Given the description of an element on the screen output the (x, y) to click on. 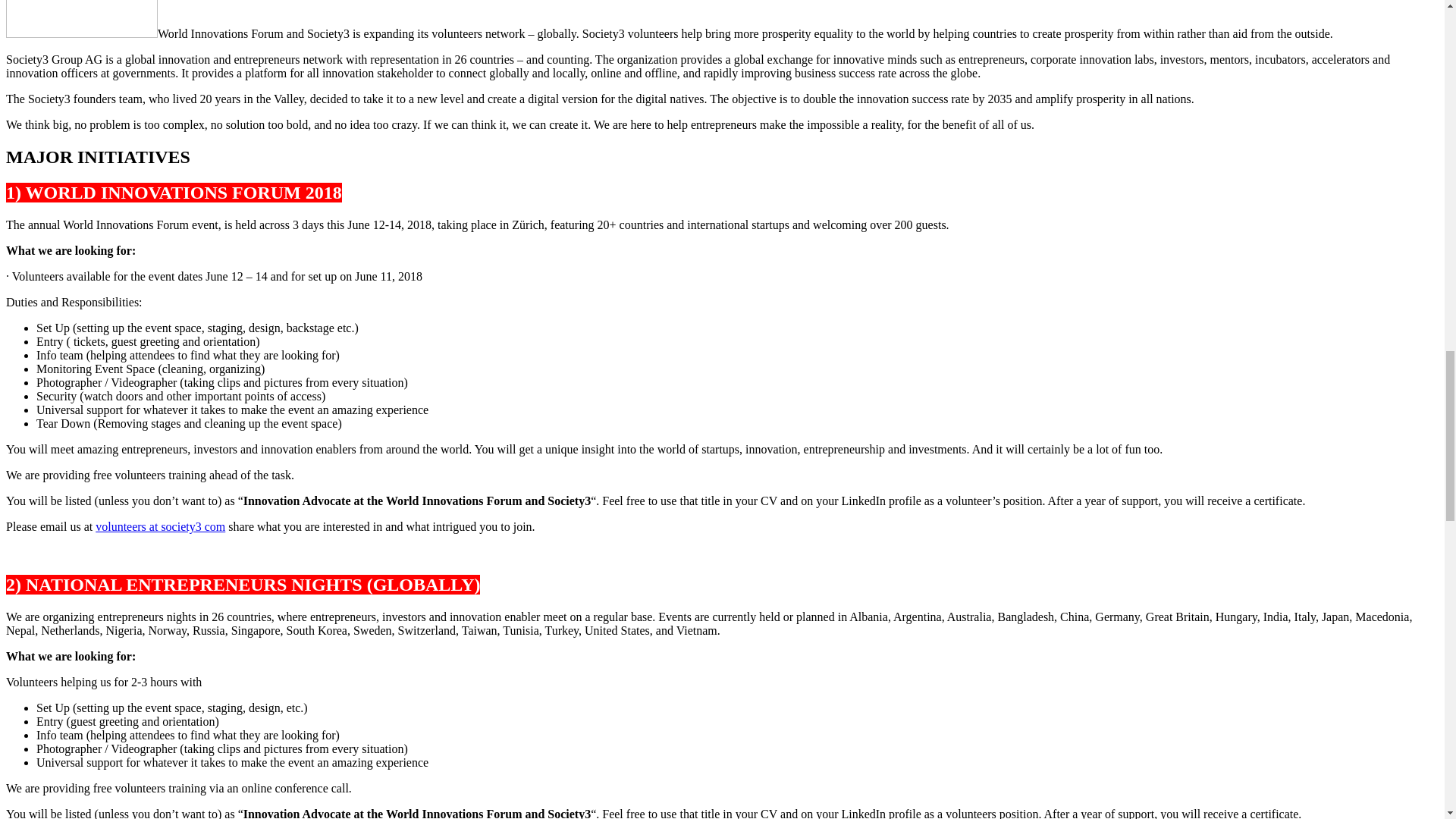
volunteers at society3 com (160, 526)
